Given the description of an element on the screen output the (x, y) to click on. 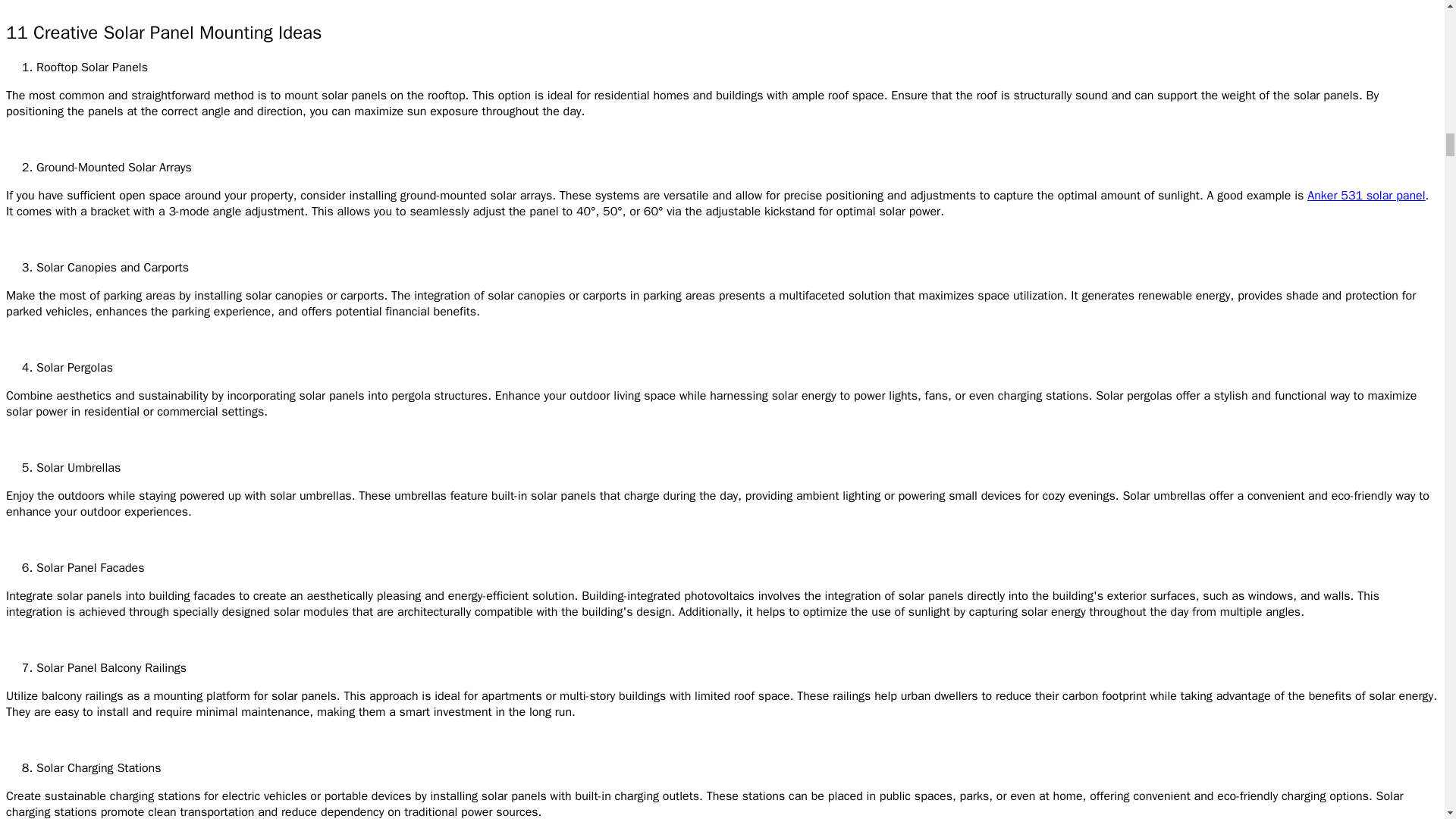
Anker 531 solar panel (1366, 195)
